Given the description of an element on the screen output the (x, y) to click on. 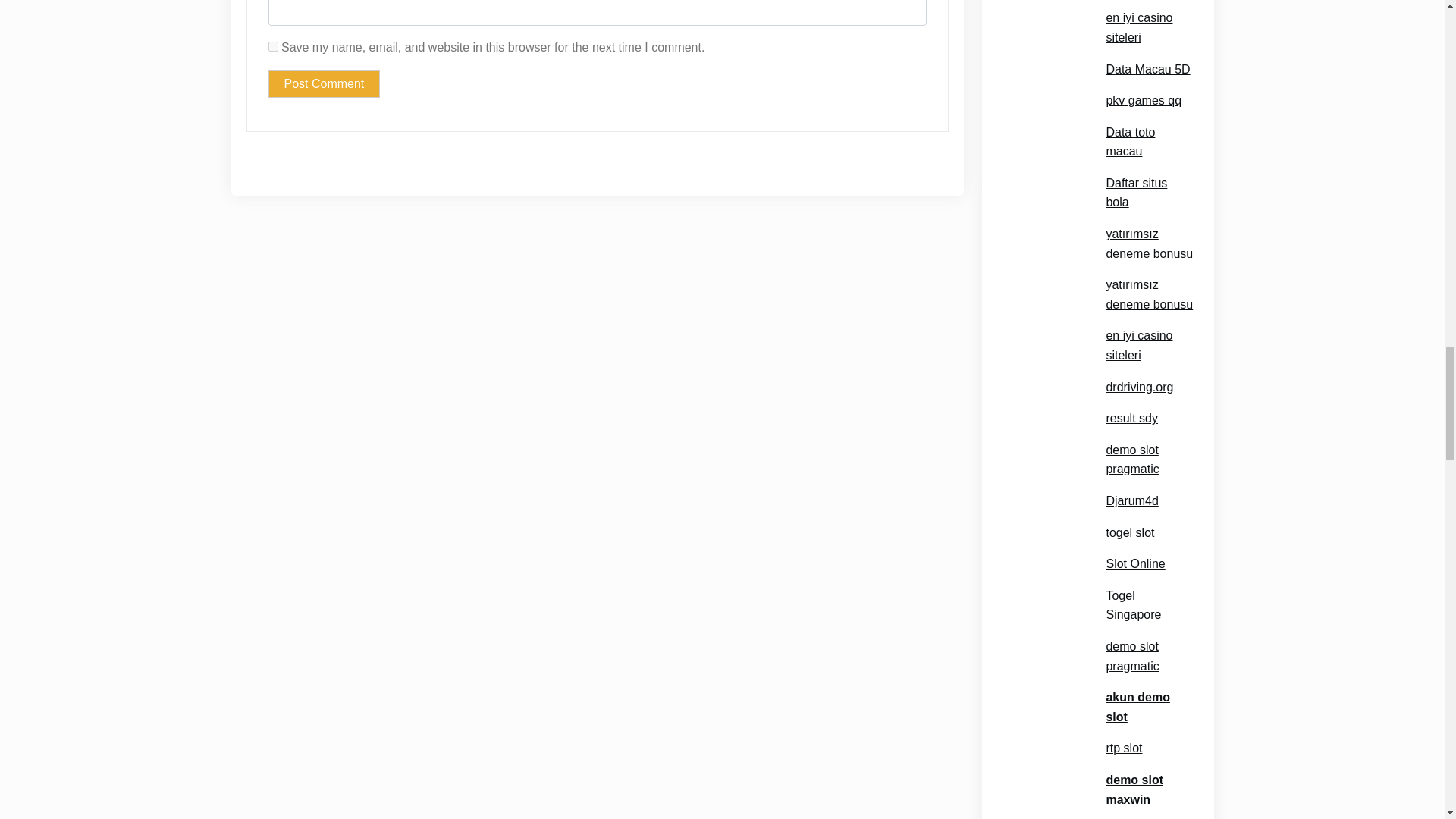
Post Comment (323, 83)
yes (272, 46)
Post Comment (323, 83)
